Given the description of an element on the screen output the (x, y) to click on. 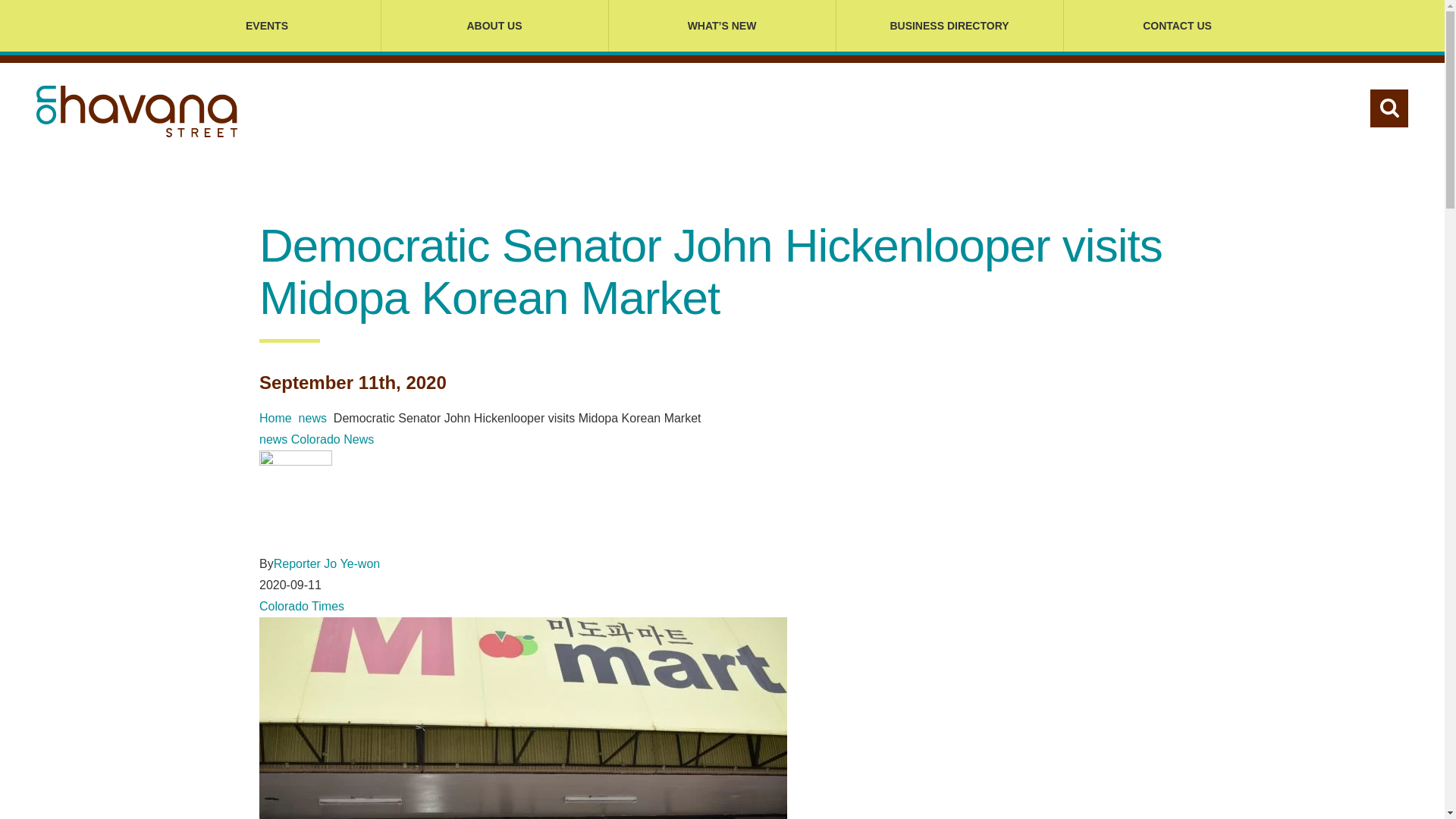
ABOUT US (494, 25)
news (312, 418)
Reporter Jo Ye-won (326, 563)
View all posts in News (312, 418)
BUSINESS DIRECTORY (948, 25)
news (272, 439)
Colorado Times (301, 605)
CONTACT US (1176, 25)
Home (275, 418)
Colorado News (332, 439)
